Given the description of an element on the screen output the (x, y) to click on. 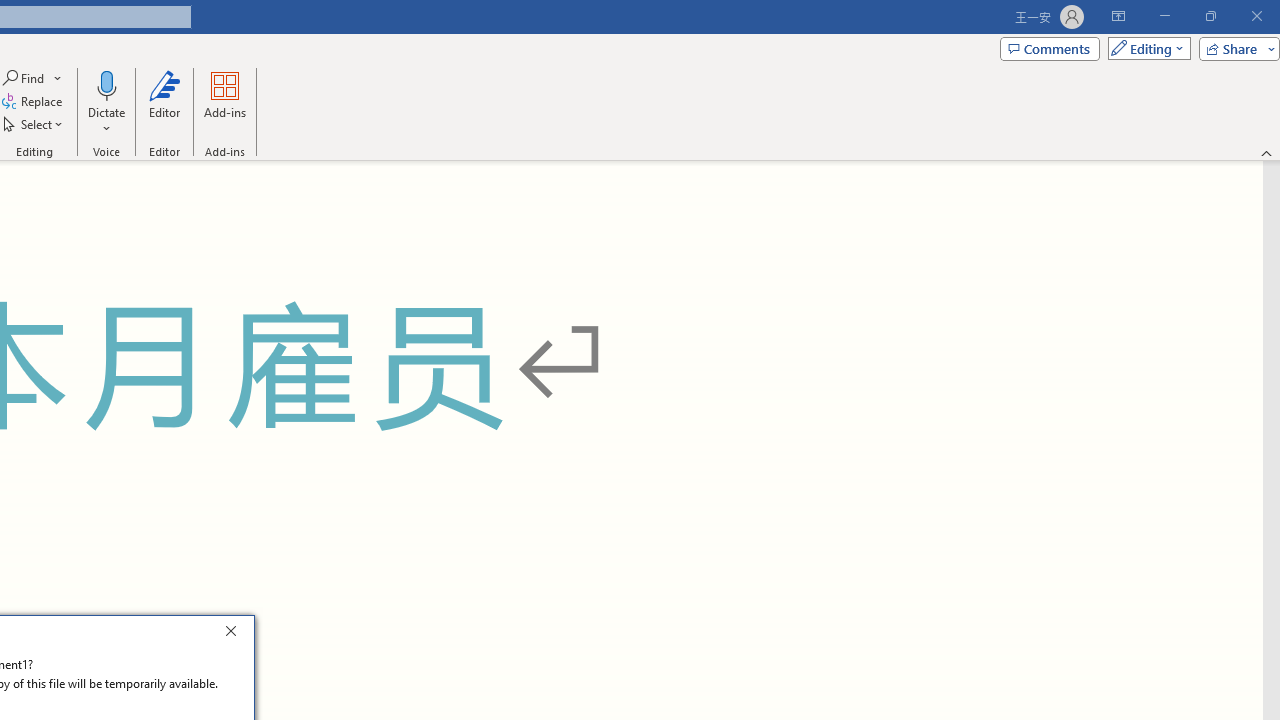
Editing (1144, 47)
